Given the description of an element on the screen output the (x, y) to click on. 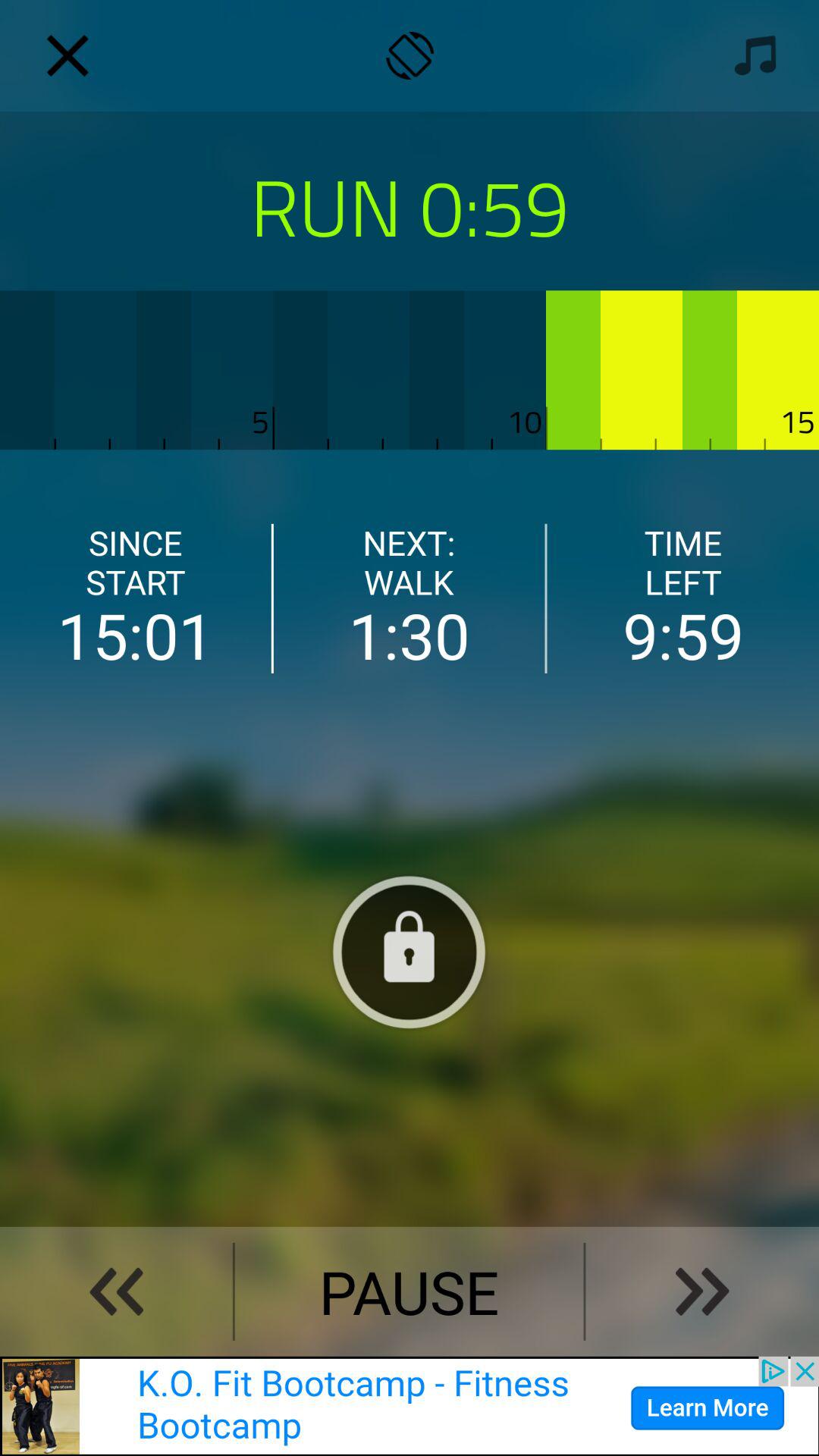
skip ahead (702, 1291)
